Given the description of an element on the screen output the (x, y) to click on. 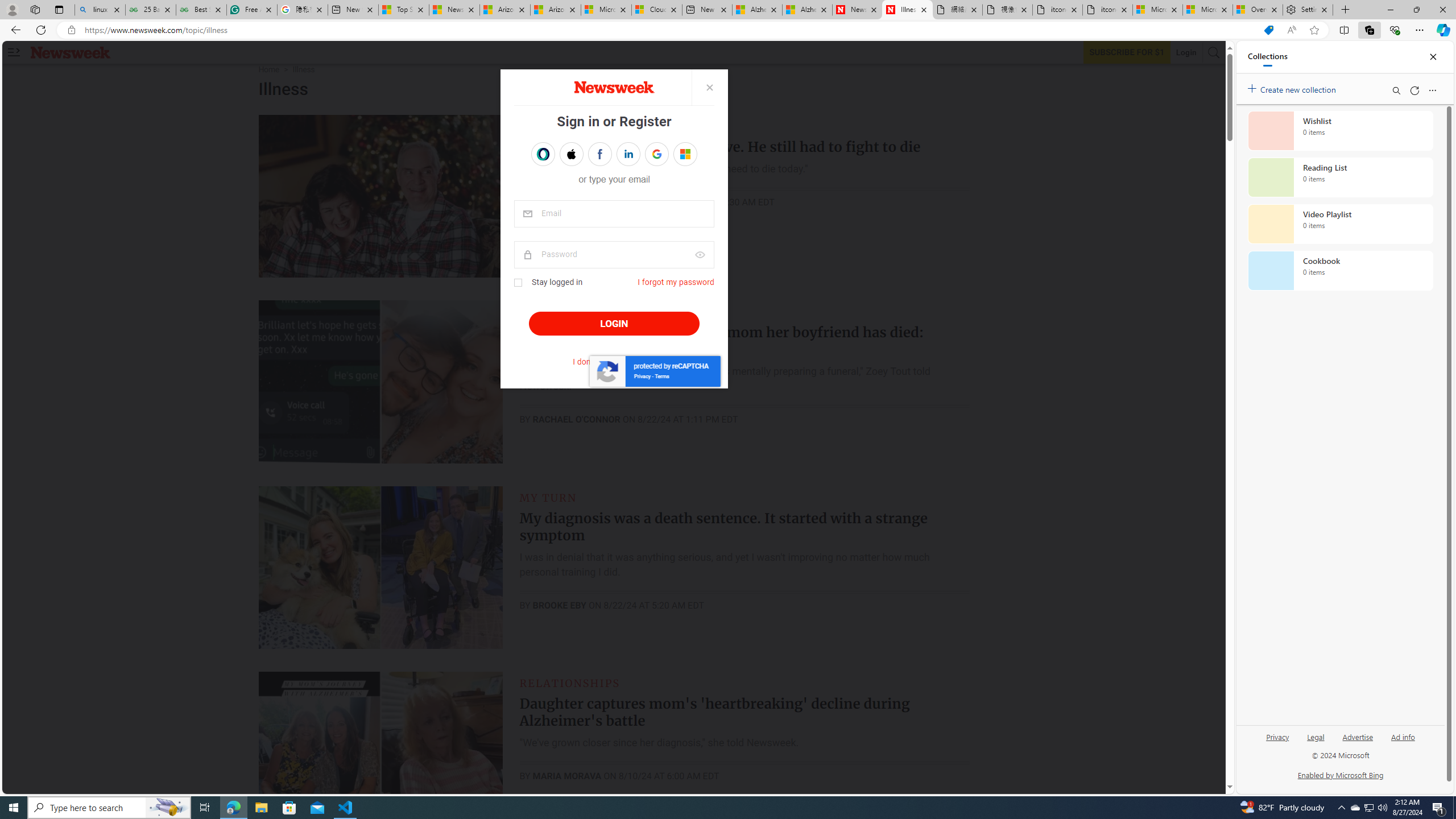
itconcepthk.com/projector_solutions.mp4 (1107, 9)
Illness news & latest pictures from Newsweek.com (907, 9)
Create new collection (1293, 87)
Reading List collection, 0 items (1339, 177)
News - MSN (453, 9)
